Given the description of an element on the screen output the (x, y) to click on. 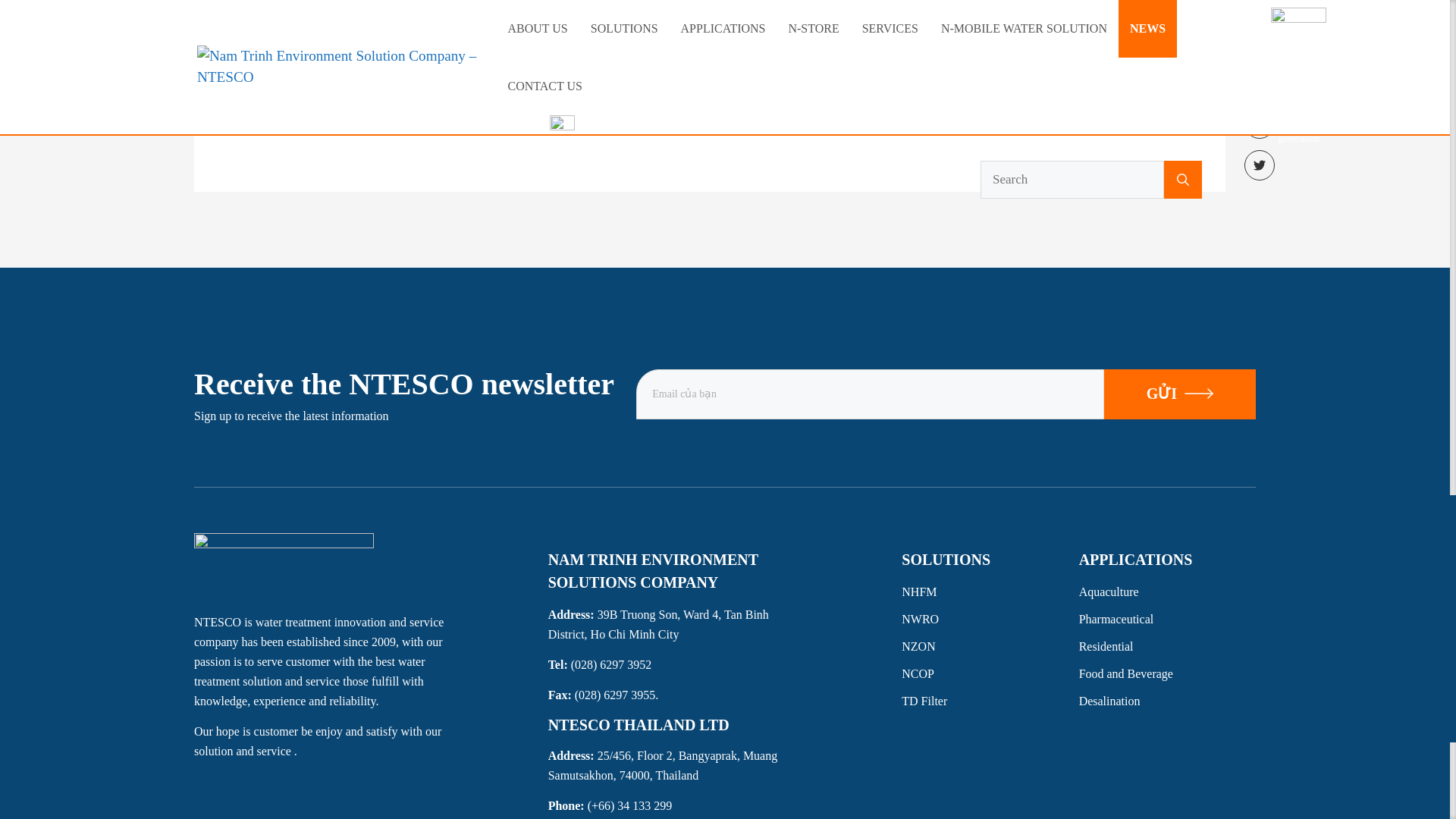
NHFM (989, 591)
NEXT POST (343, 112)
NCOP (989, 673)
NZON (989, 646)
NWRO (989, 619)
TD Filter (989, 701)
